Given the description of an element on the screen output the (x, y) to click on. 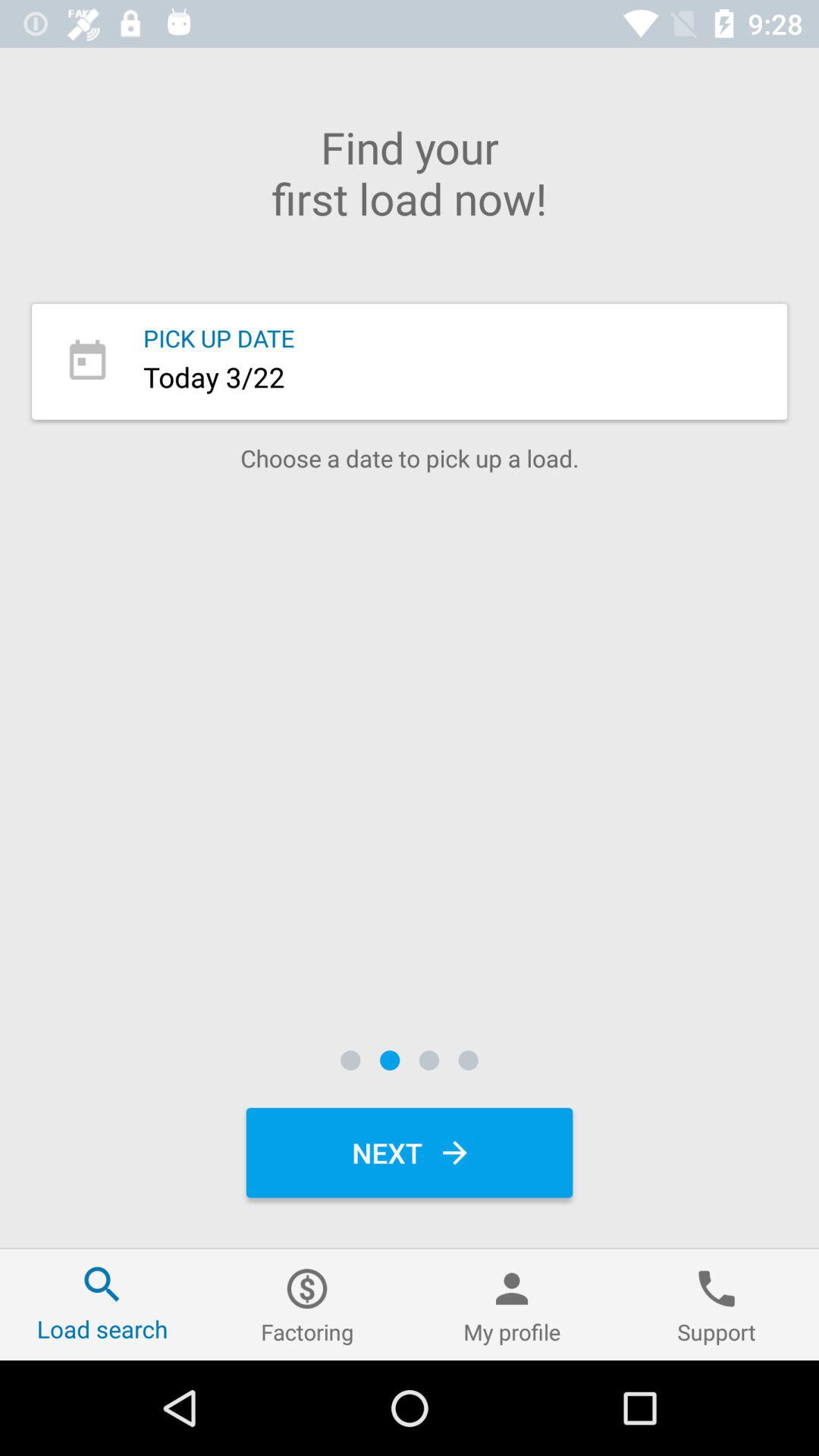
jump until my profile item (511, 1304)
